Given the description of an element on the screen output the (x, y) to click on. 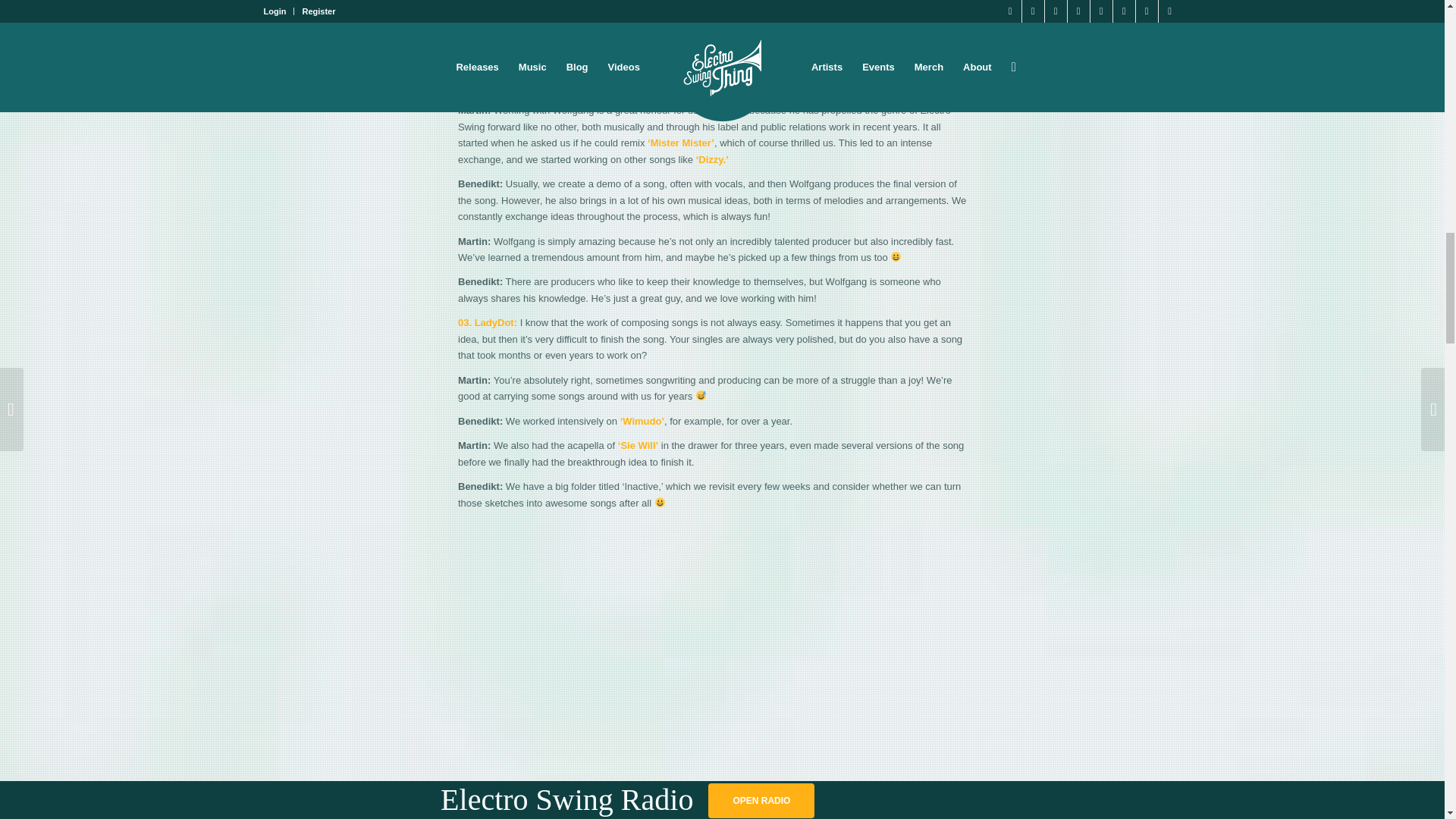
Balduin - Wimudo (714, 15)
